Given the description of an element on the screen output the (x, y) to click on. 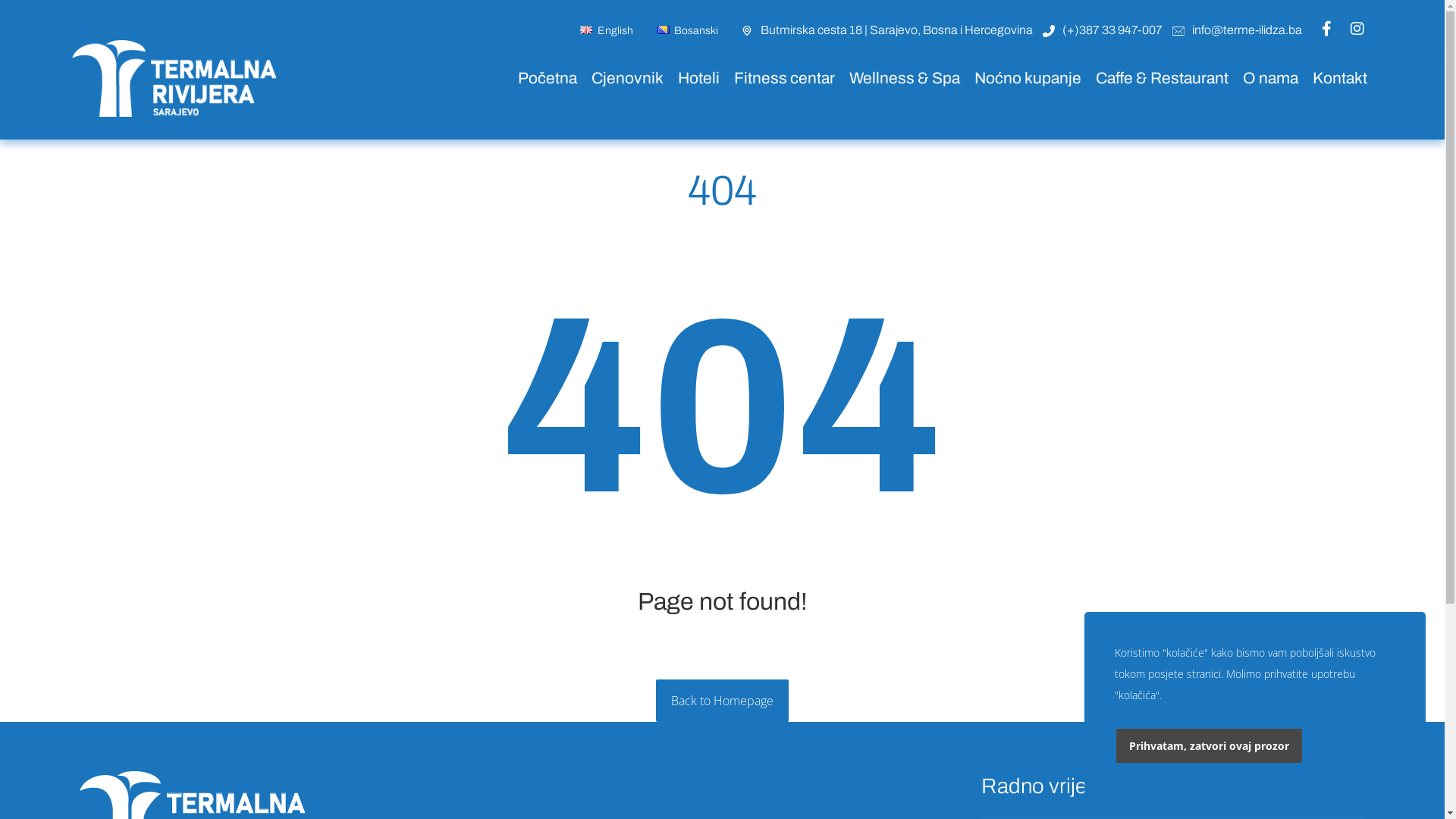
O nama Element type: text (1264, 77)
Bosanski Element type: text (686, 30)
Back to Homepage Element type: text (721, 700)
Kontakt Element type: text (1334, 77)
Prihvatam, zatvori ovaj prozor Element type: text (1209, 745)
English Element type: text (605, 30)
Hoteli Element type: text (692, 77)
Cjenovnik Element type: text (621, 77)
Fitness centar Element type: text (778, 77)
Wellness & Spa Element type: text (898, 77)
Caffe & Restaurant Element type: text (1156, 77)
